Given the description of an element on the screen output the (x, y) to click on. 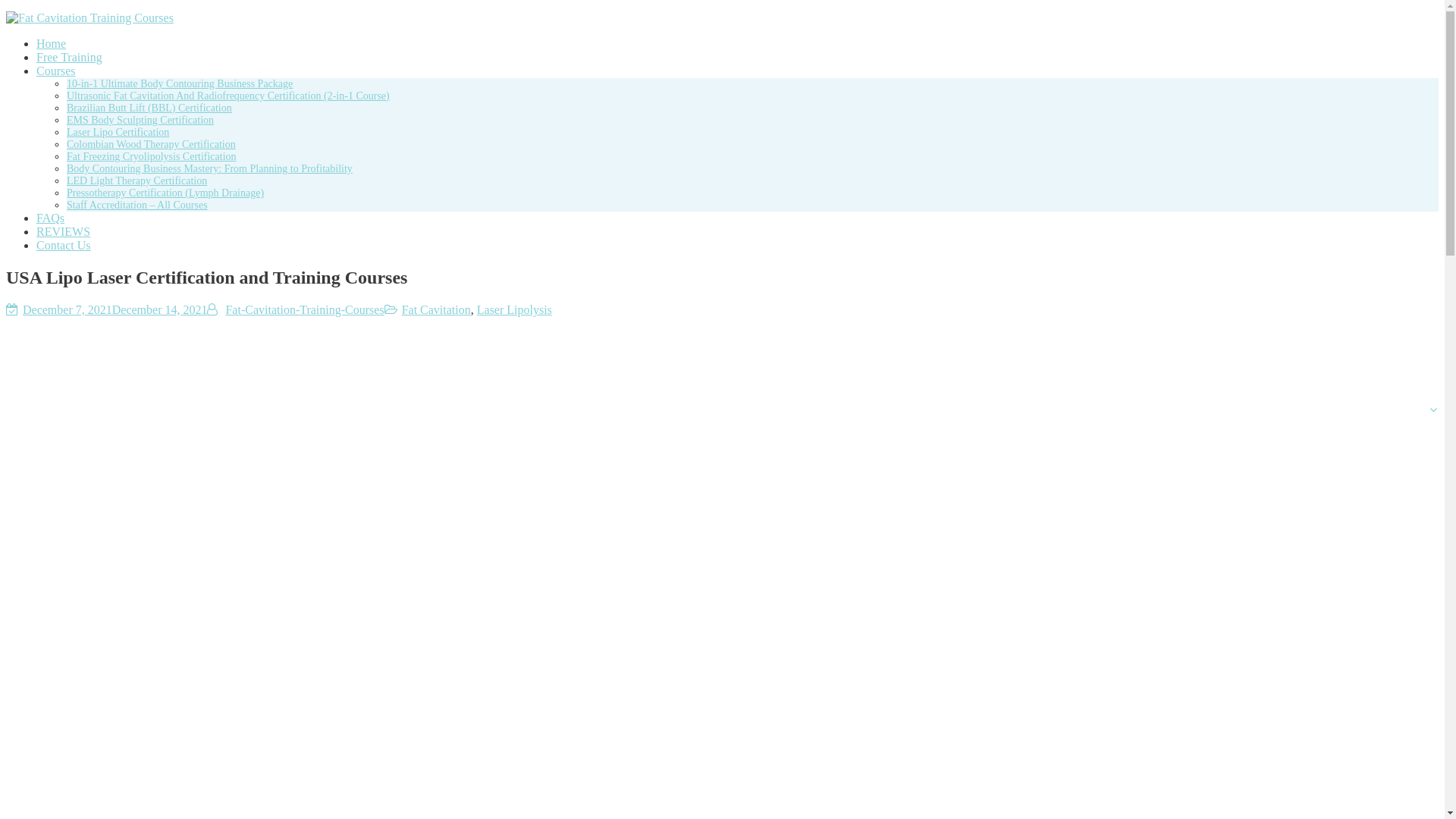
Courses (55, 70)
Free Training (68, 56)
Colombian Wood Therapy Certification (150, 143)
December 7, 2021December 14, 2021 (114, 309)
Laser Lipo Certification (117, 132)
Home (50, 42)
Contact Us (63, 245)
Fat Cavitation (435, 309)
Laser Lipolysis (514, 309)
LED Light Therapy Certification (136, 180)
